Given the description of an element on the screen output the (x, y) to click on. 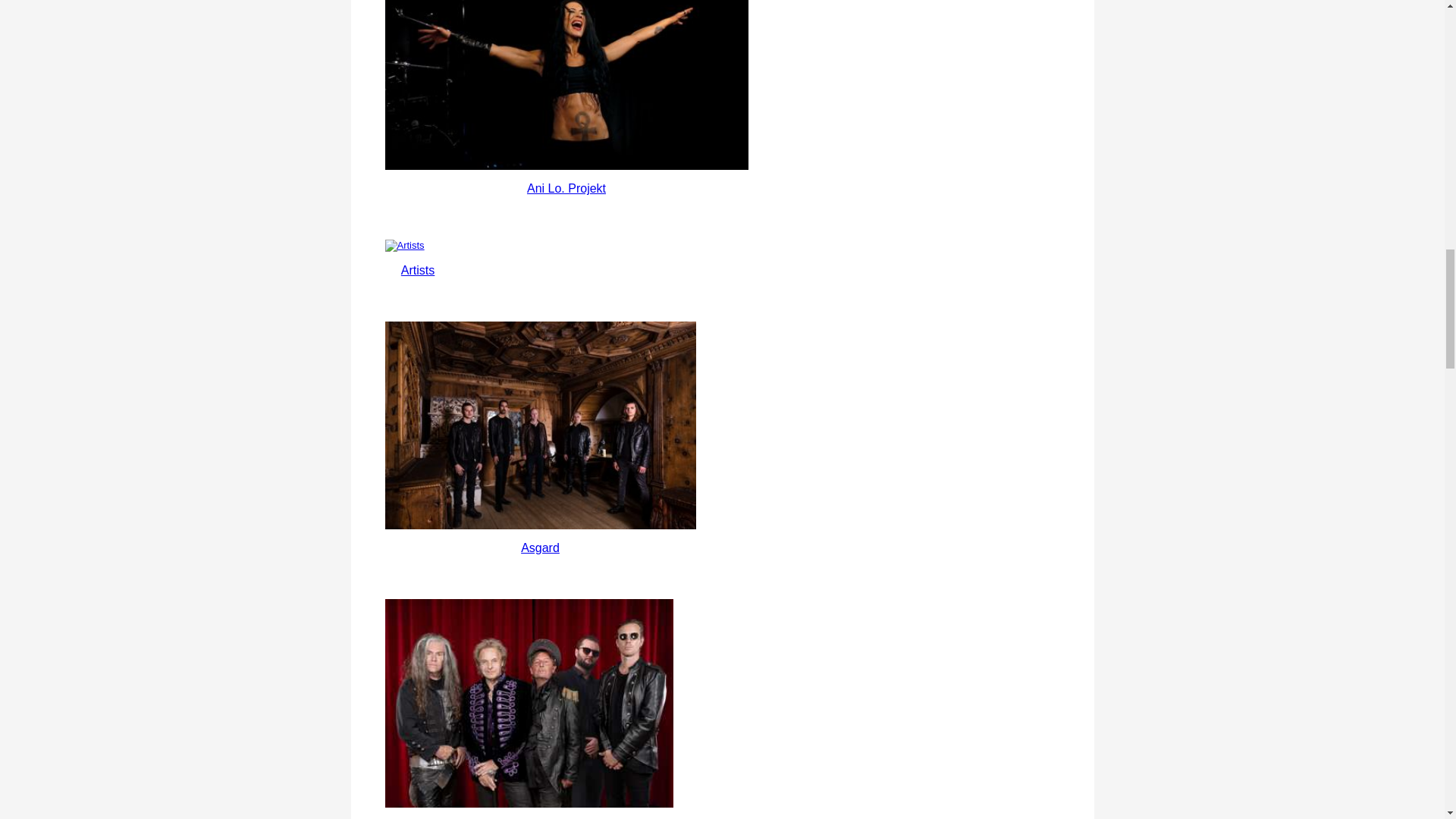
Artists (418, 245)
Artists (417, 269)
Autumn's Child (528, 702)
Ani Lo. Projekt (566, 187)
Artists (417, 269)
Asgard (540, 547)
Asgard (540, 424)
Asgard (540, 547)
Ani Lo. Projekt (566, 187)
Ani Lo. Projekt (566, 85)
